Given the description of an element on the screen output the (x, y) to click on. 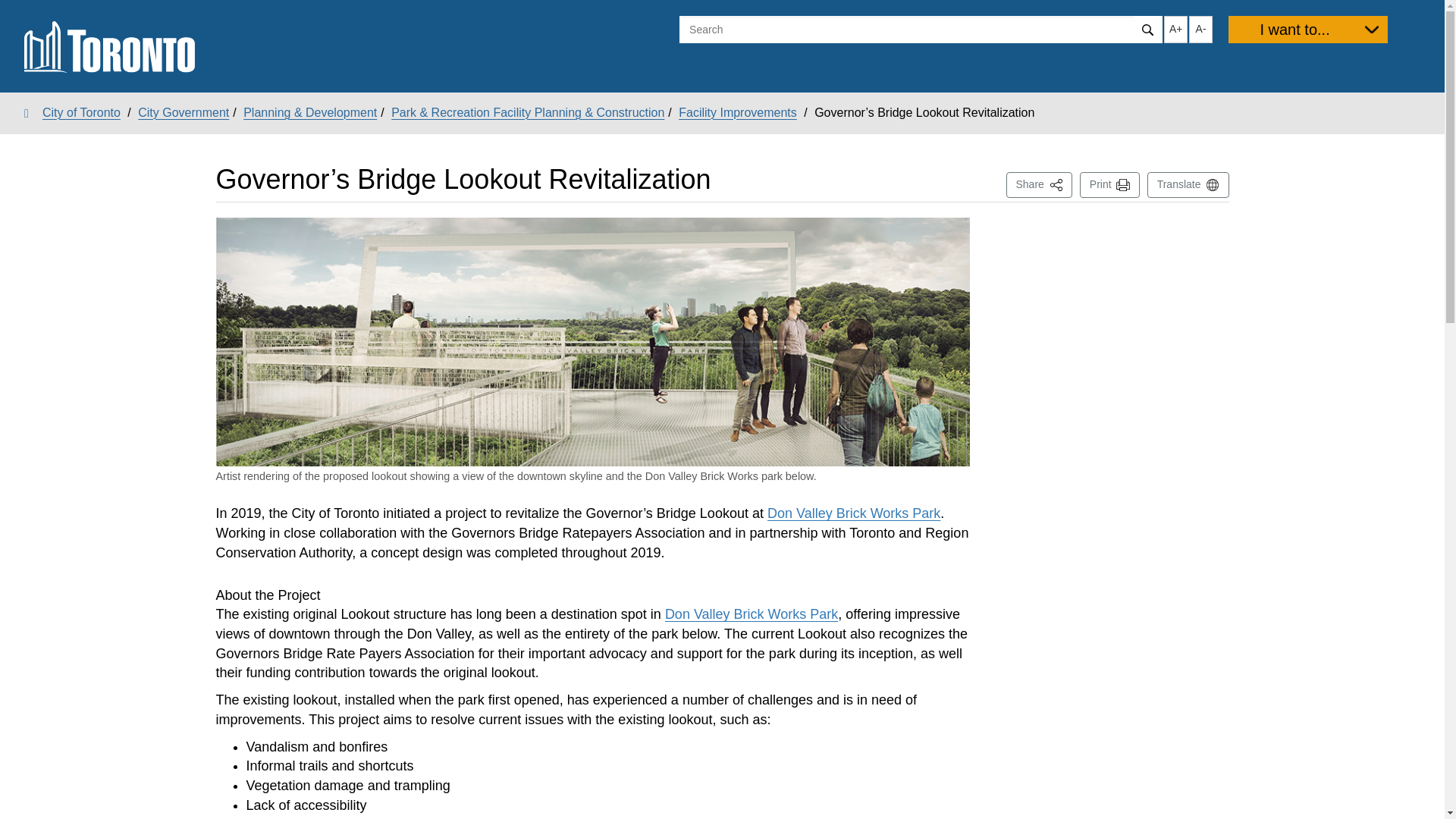
Increase text size (1038, 184)
Don Valley Brick Works Park (1175, 29)
Don Valley Brick Works Park (853, 513)
Skip to content (751, 613)
Print (11, 11)
City Government (1110, 184)
Facility Improvements (183, 112)
City of Toronto (737, 112)
I want to... (72, 112)
